Given the description of an element on the screen output the (x, y) to click on. 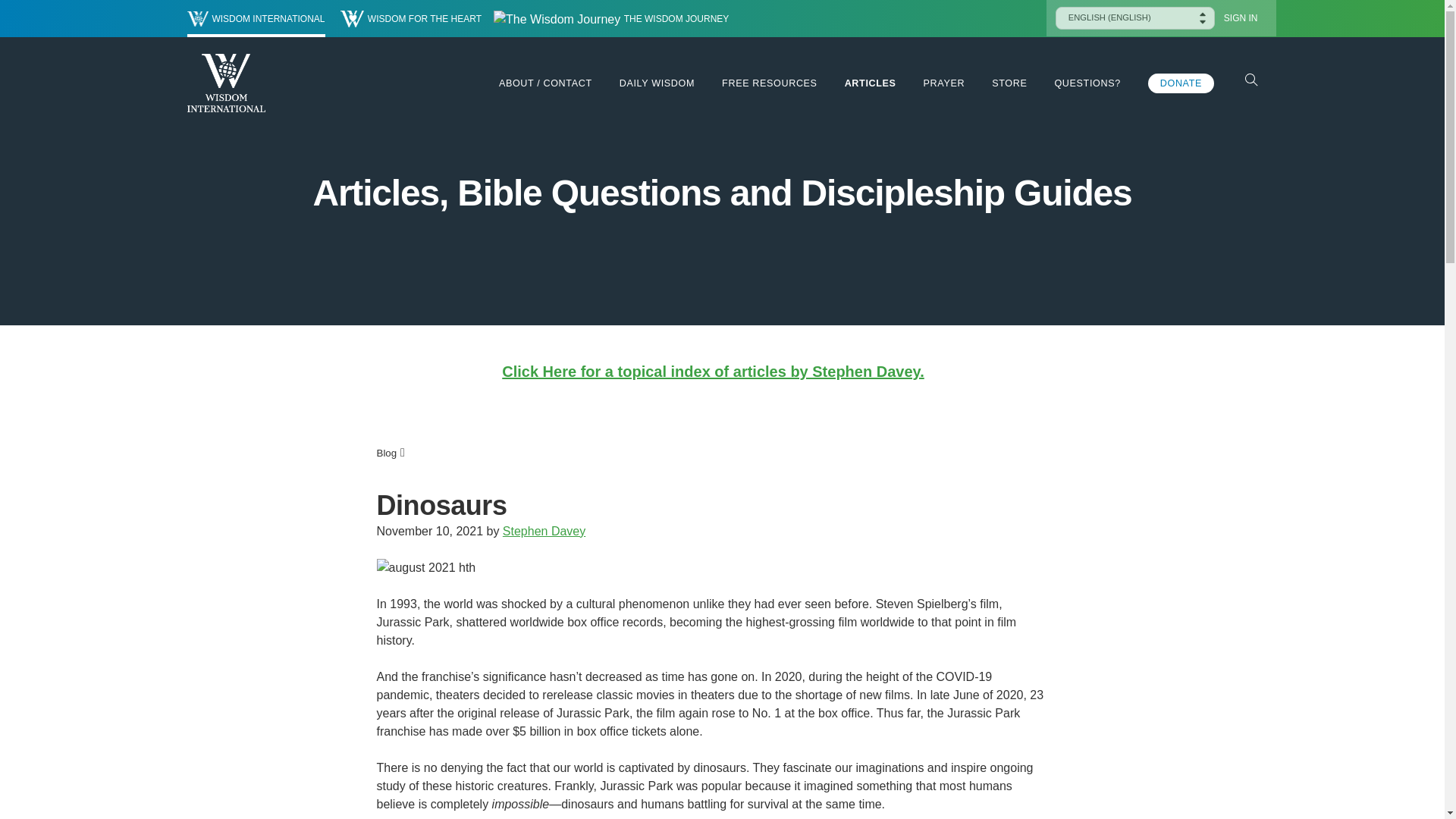
SIGN IN (1240, 18)
WISDOM INTERNATIONAL (255, 18)
DONATE (1181, 83)
WISDOM FOR THE HEART (410, 18)
QUESTIONS? (1086, 83)
THE WISDOM JOURNEY (611, 18)
Click Here for a topical index of articles by Stephen Davey. (712, 371)
FREE RESOURCES (769, 83)
Sign In (1240, 18)
Stephen Davey (543, 530)
